Given the description of an element on the screen output the (x, y) to click on. 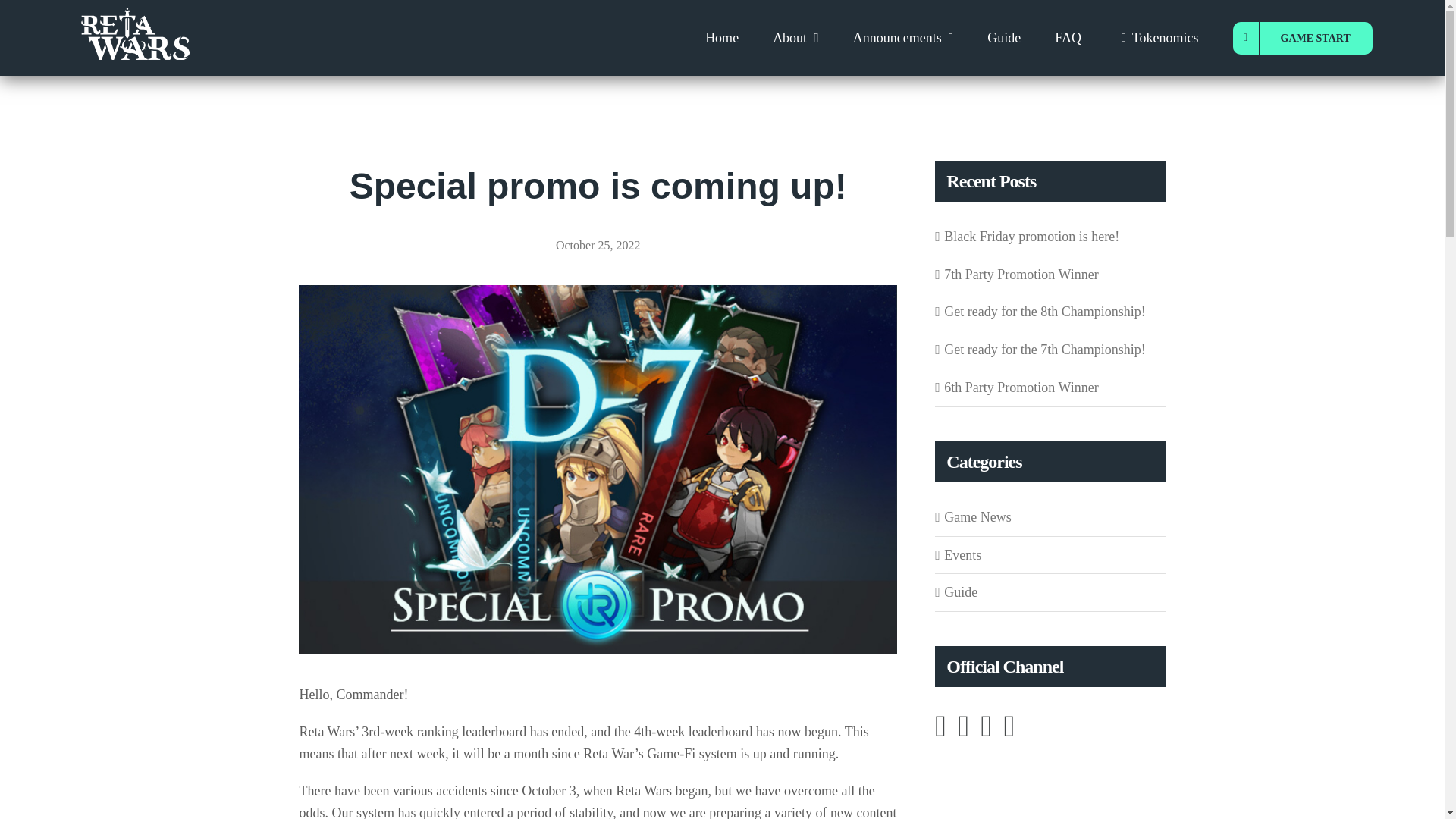
Announcements (903, 37)
GAME START (1303, 37)
Tokenomics (1156, 37)
